Given the description of an element on the screen output the (x, y) to click on. 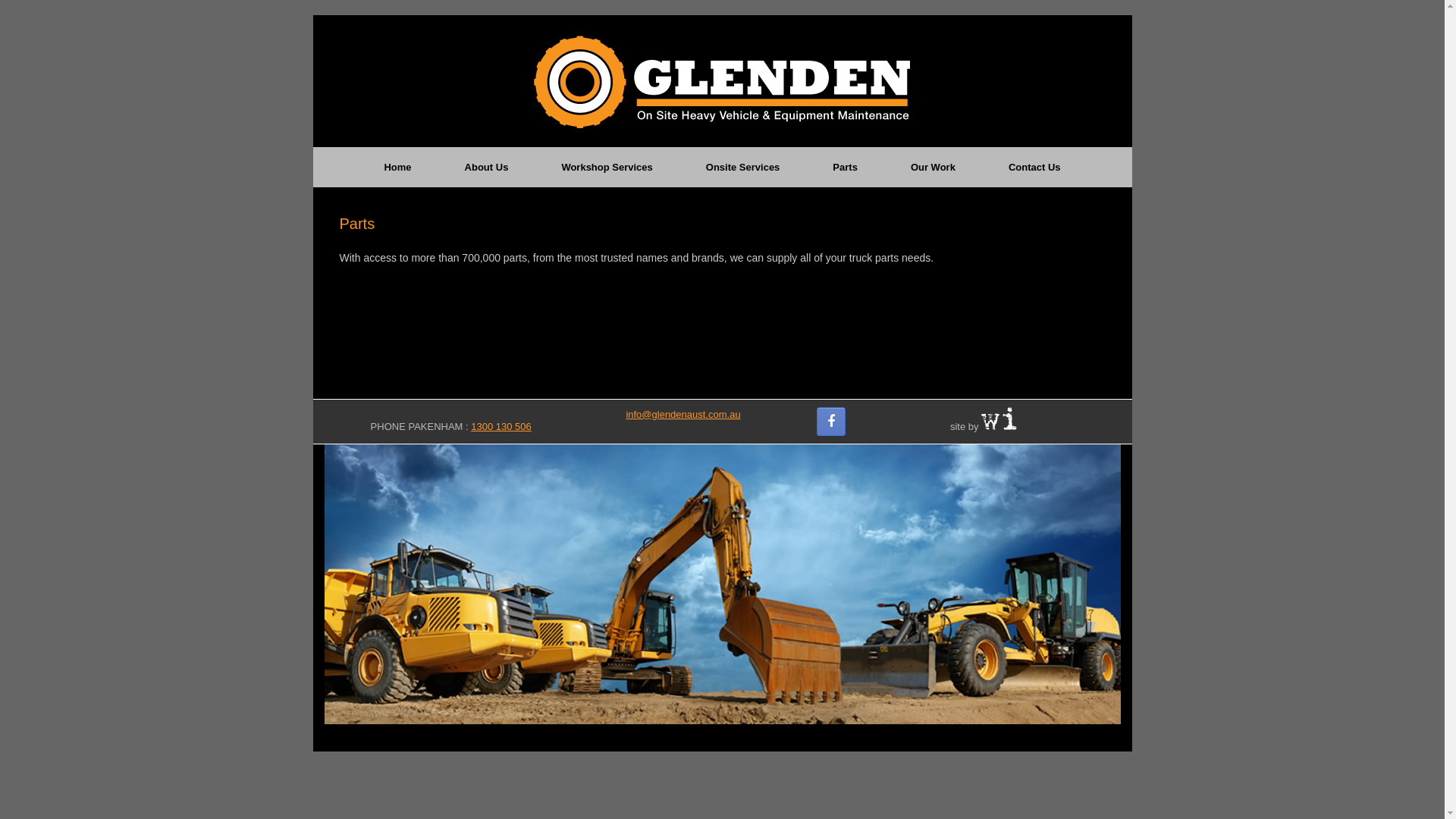
Glenden Australia Facebook Element type: hover (829, 421)
Contact Us Element type: text (1034, 167)
Home Element type: text (397, 167)
Glenden Australia Element type: hover (722, 80)
Parts Element type: text (845, 167)
About Us Element type: text (486, 167)
1300 130 506 Element type: text (500, 426)
info@glendenaust.com.au Element type: text (682, 414)
Workshop Services Element type: text (606, 167)
Our Work Element type: text (933, 167)
Onsite Services Element type: text (742, 167)
